Given the description of an element on the screen output the (x, y) to click on. 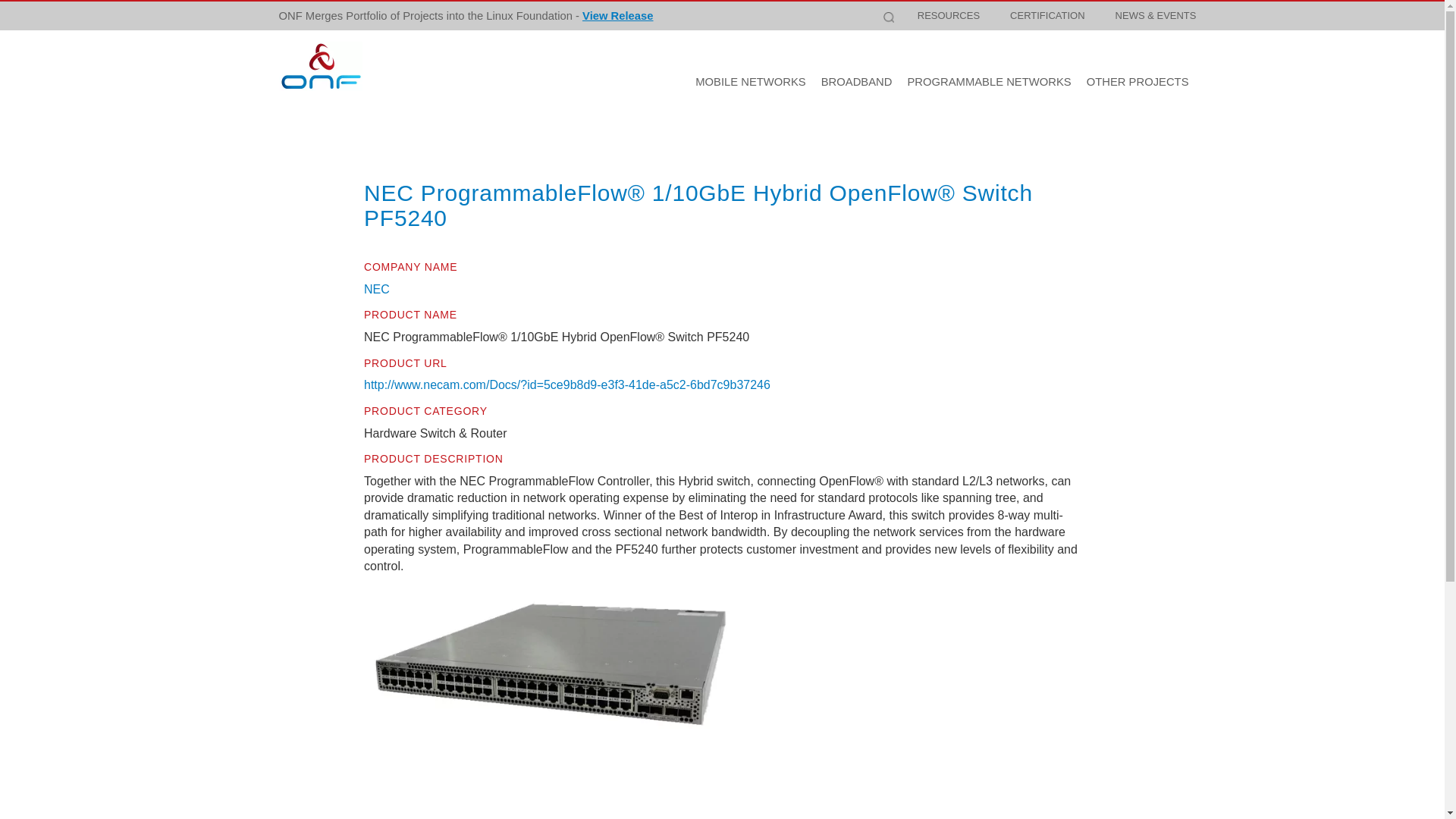
search (1185, 29)
BROADBAND (856, 81)
MOBILE NETWORKS (750, 81)
RESOURCES (948, 15)
CERTIFICATION (1047, 15)
View Release (617, 2)
